Given the description of an element on the screen output the (x, y) to click on. 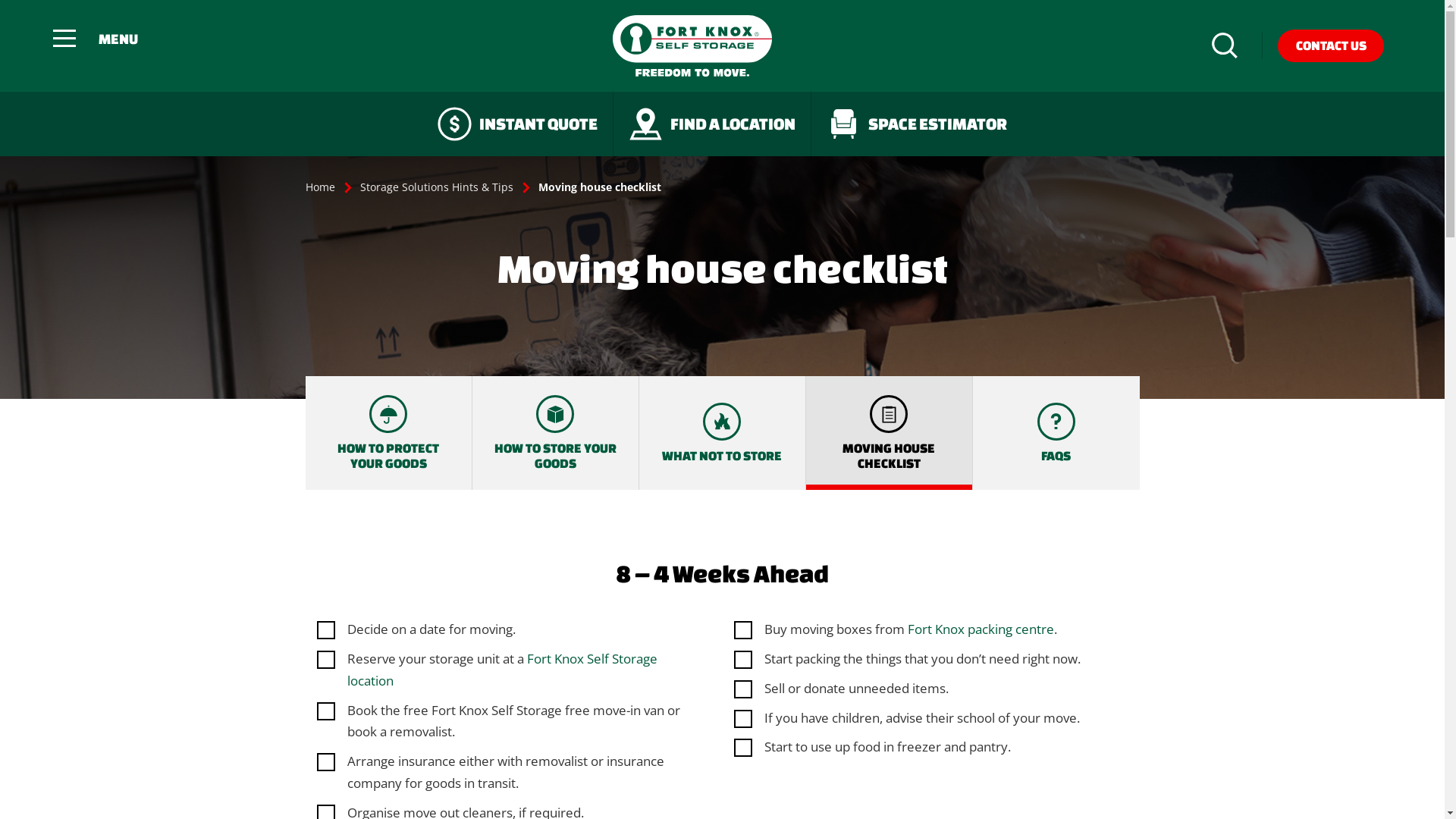
Fort Knox packing centre Element type: text (979, 628)
WHAT NOT TO STORE Element type: text (721, 432)
Fort Knox Self Storage location Element type: text (502, 669)
FIND A LOCATION Element type: text (712, 123)
SPACE ESTIMATOR Element type: text (916, 123)
INSTANT QUOTE Element type: text (517, 123)
MOVING HOUSE CHECKLIST Element type: text (889, 432)
CONTACT US Element type: text (1330, 45)
HOW TO STORE YOUR GOODS Element type: text (555, 432)
FAQS Element type: text (1056, 432)
Home Element type: text (319, 187)
Storage Solutions Hints & Tips Element type: text (435, 187)
HOW TO PROTECT YOUR GOODS Element type: text (388, 432)
